Given the description of an element on the screen output the (x, y) to click on. 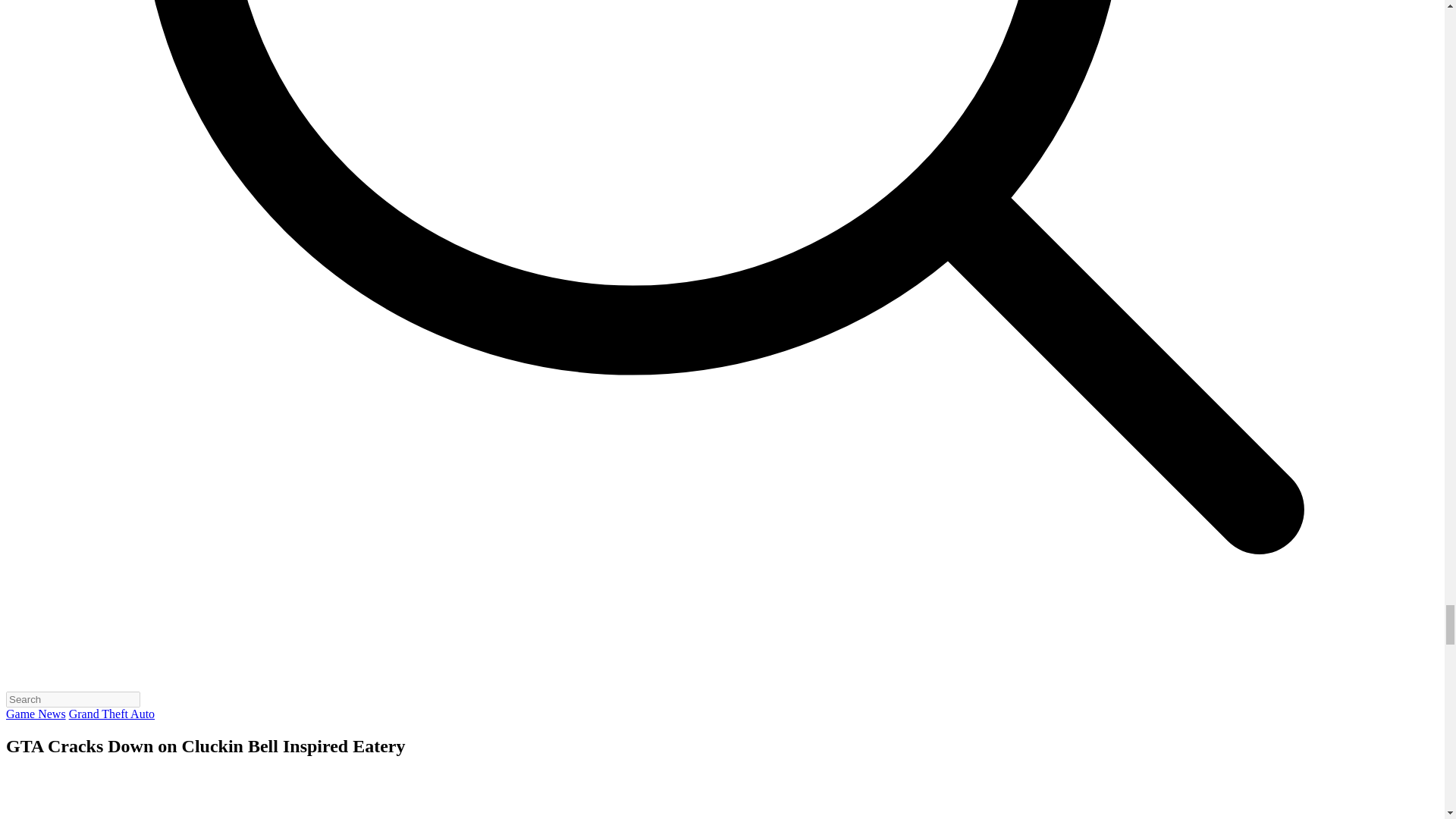
Game News (35, 713)
Grand Theft Auto (111, 713)
